Given the description of an element on the screen output the (x, y) to click on. 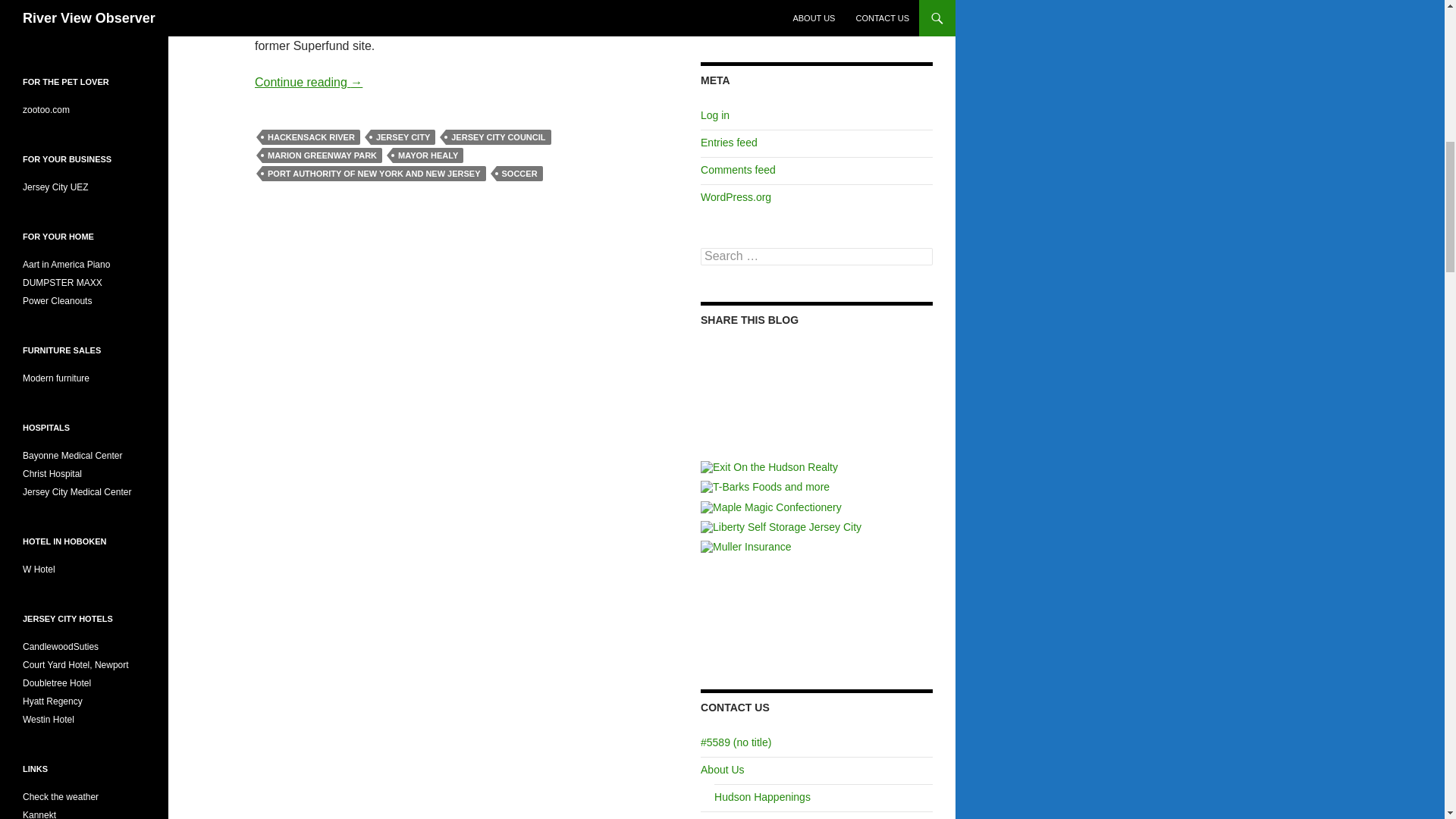
Liberty Self Storage Jersey City (780, 526)
SOCCER (519, 173)
WordPress.org (735, 196)
Exit On the Hudson Realty (769, 467)
Comments feed (738, 169)
PORT AUTHORITY OF NEW YORK AND NEW JERSEY (374, 173)
Entries feed (728, 142)
T-Barks Foods and more (764, 486)
JERSEY CITY COUNCIL (497, 136)
Muller Insurance (746, 546)
JERSEY CITY (403, 136)
MARION GREENWAY PARK (321, 155)
HACKENSACK RIVER (310, 136)
Log in (714, 114)
MAYOR HEALY (428, 155)
